Given the description of an element on the screen output the (x, y) to click on. 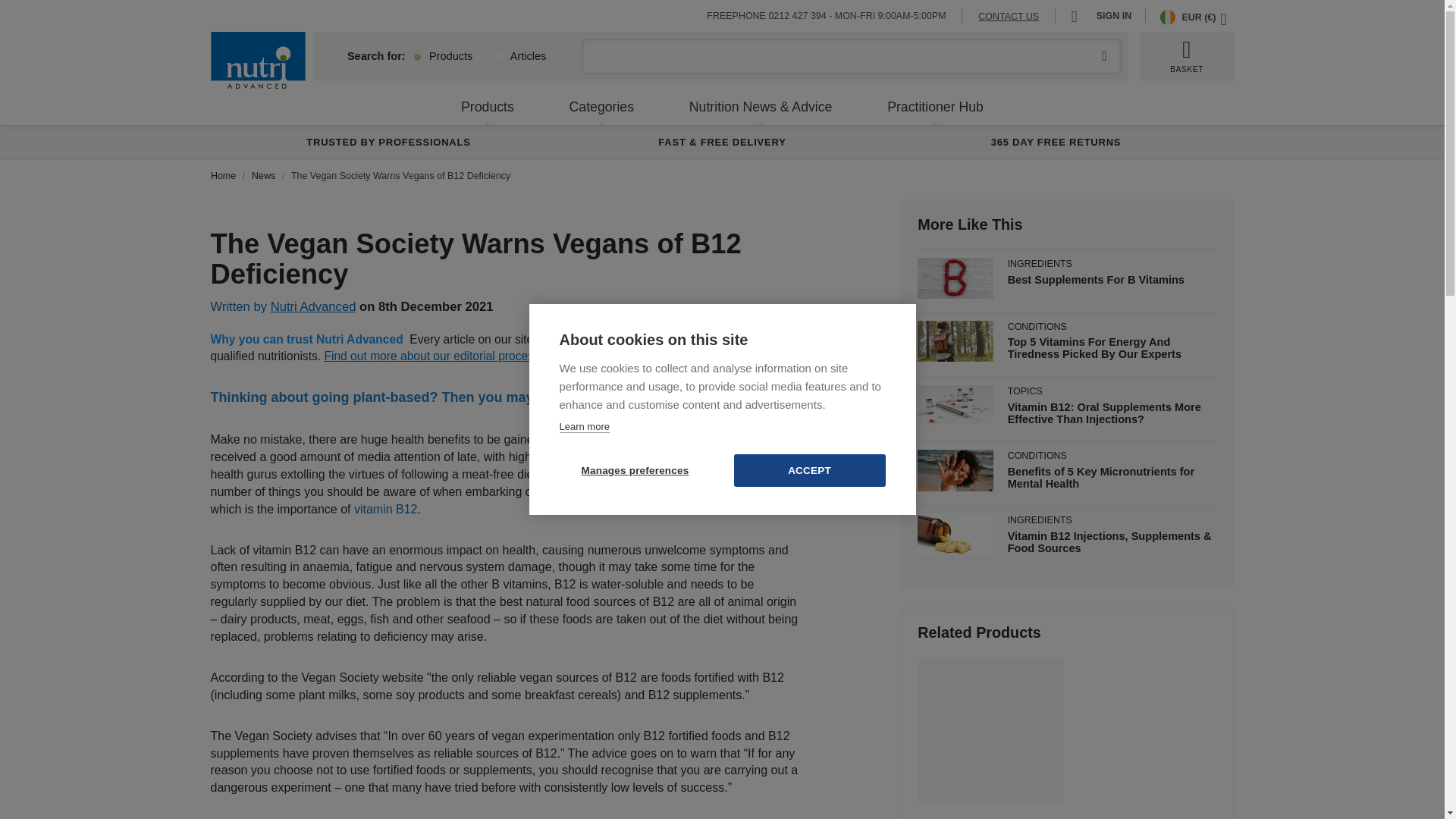
articles (497, 57)
Best Supplements For B Vitamins (1096, 279)
MY ACCOUNT (1078, 15)
Call Us (796, 15)
Contact Us (1008, 16)
BASKET (1185, 56)
Go to Home Page (224, 175)
SIGN IN (1113, 15)
products (417, 57)
Products (487, 106)
products (417, 57)
Search (1104, 56)
0212 427 394 (796, 15)
